Given the description of an element on the screen output the (x, y) to click on. 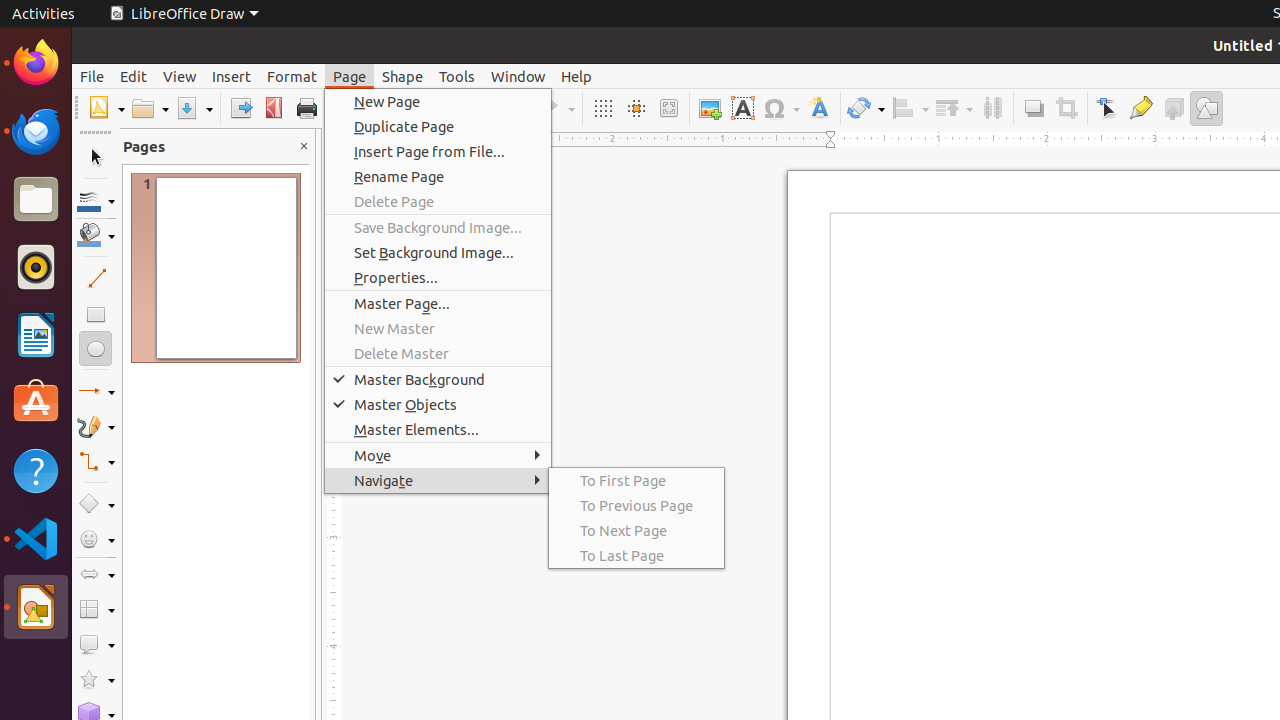
Grid Element type: toggle-button (602, 108)
Rhythmbox Element type: push-button (36, 267)
Save Element type: push-button (194, 108)
Distribution Element type: push-button (992, 108)
